Given the description of an element on the screen output the (x, y) to click on. 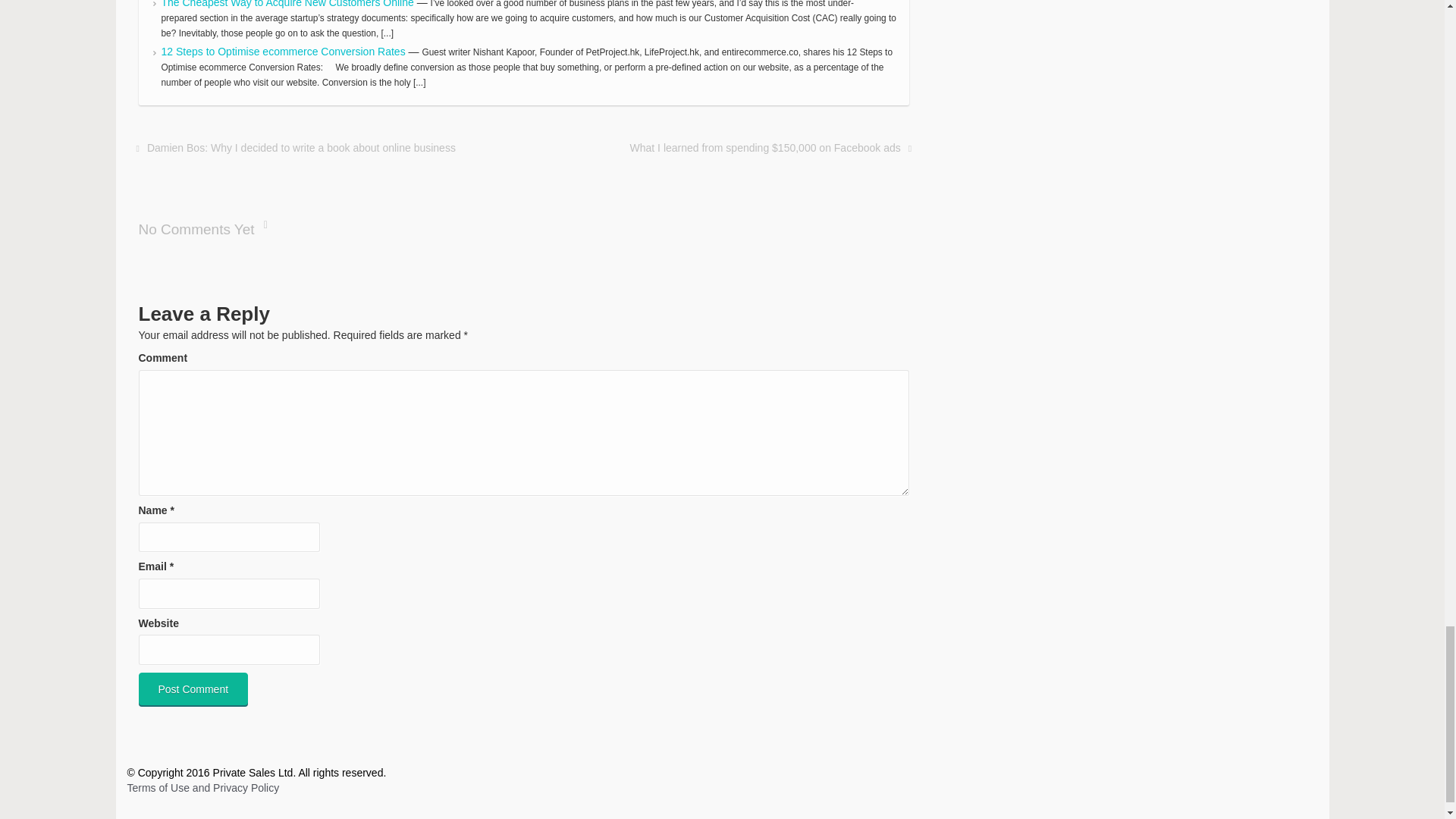
Post Comment (192, 688)
